Given the description of an element on the screen output the (x, y) to click on. 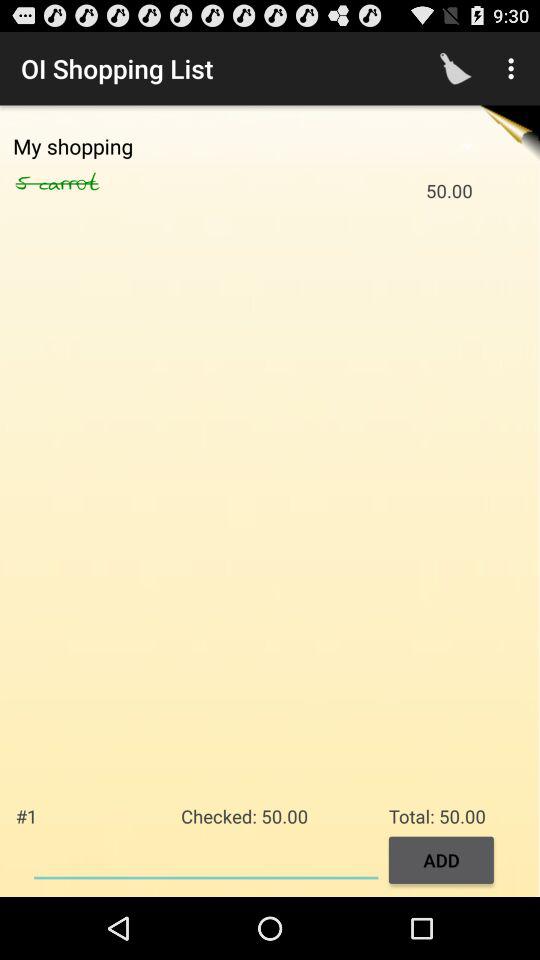
click the carrot  app (90, 183)
